Given the description of an element on the screen output the (x, y) to click on. 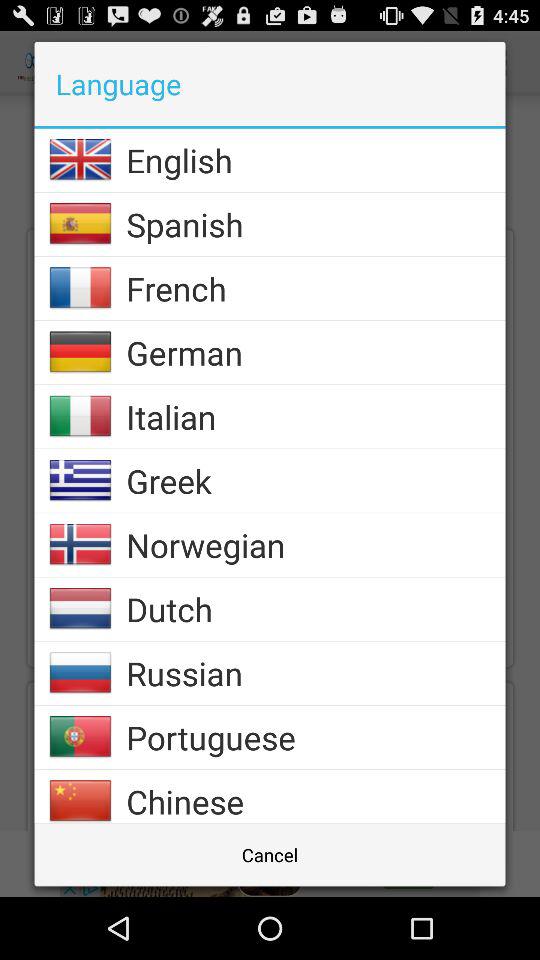
flip until french item (315, 288)
